Given the description of an element on the screen output the (x, y) to click on. 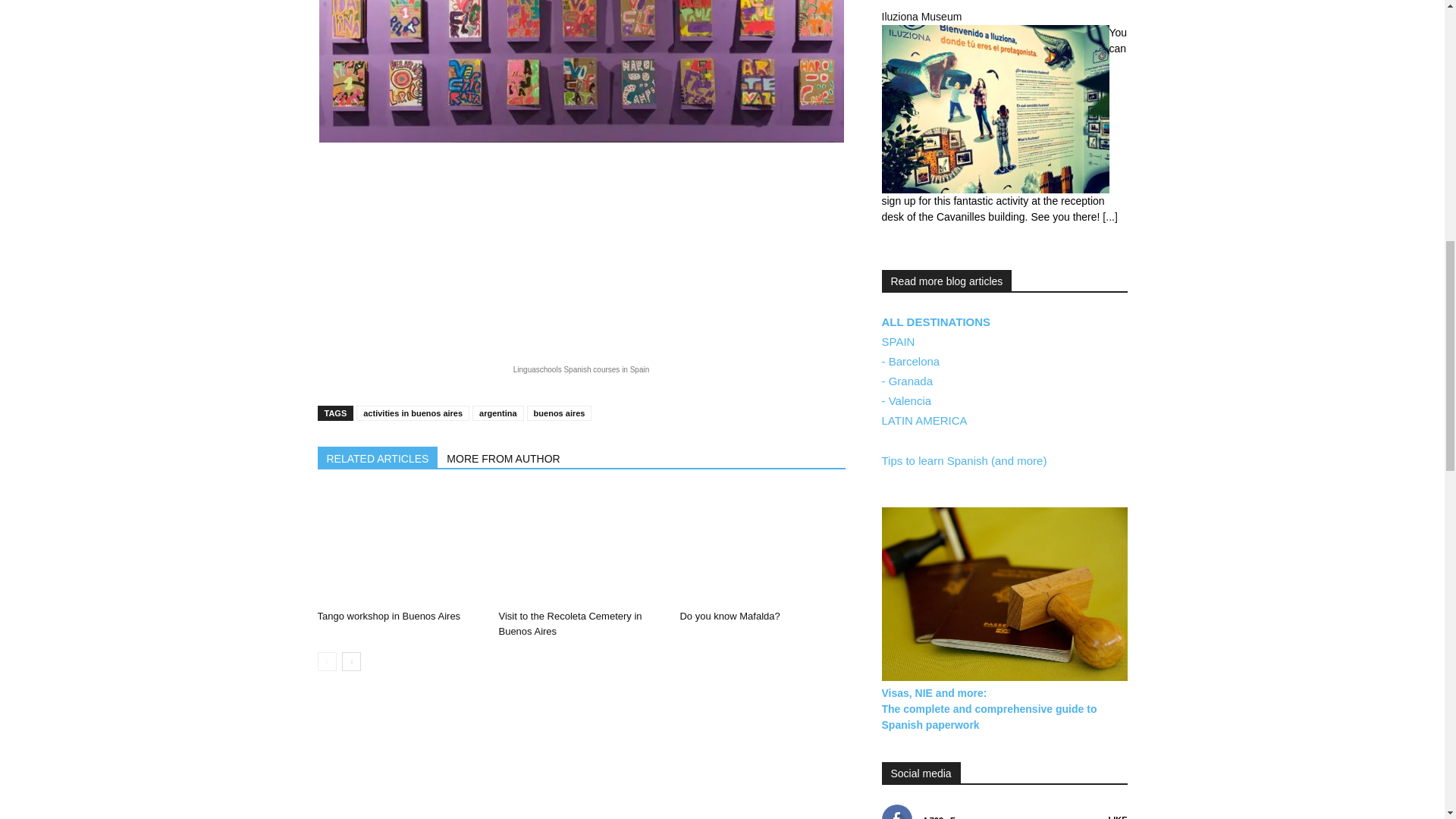
Visit to the Recoleta Cemetery in Buenos Aires (580, 546)
Tango workshop in Buenos Aires (388, 615)
Visit to the Recoleta Cemetery in Buenos Aires (569, 623)
Tango workshop in Buenos Aires (399, 546)
cartonera taller (682, 244)
03 cucurto (418, 244)
eleoisa (580, 71)
